Given the description of an element on the screen output the (x, y) to click on. 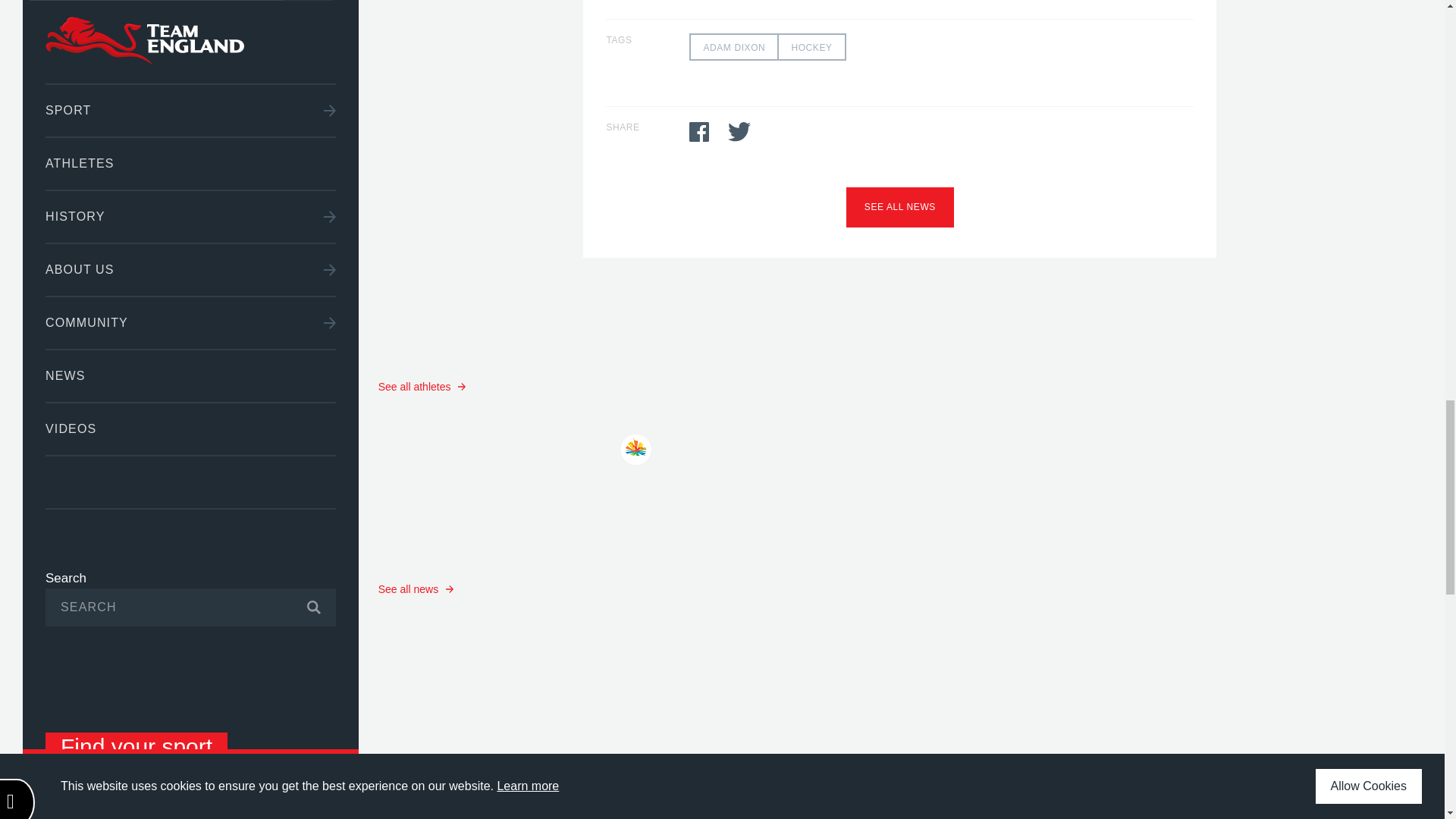
Share on Facebook (698, 131)
Share on Twitter (739, 131)
